Given the description of an element on the screen output the (x, y) to click on. 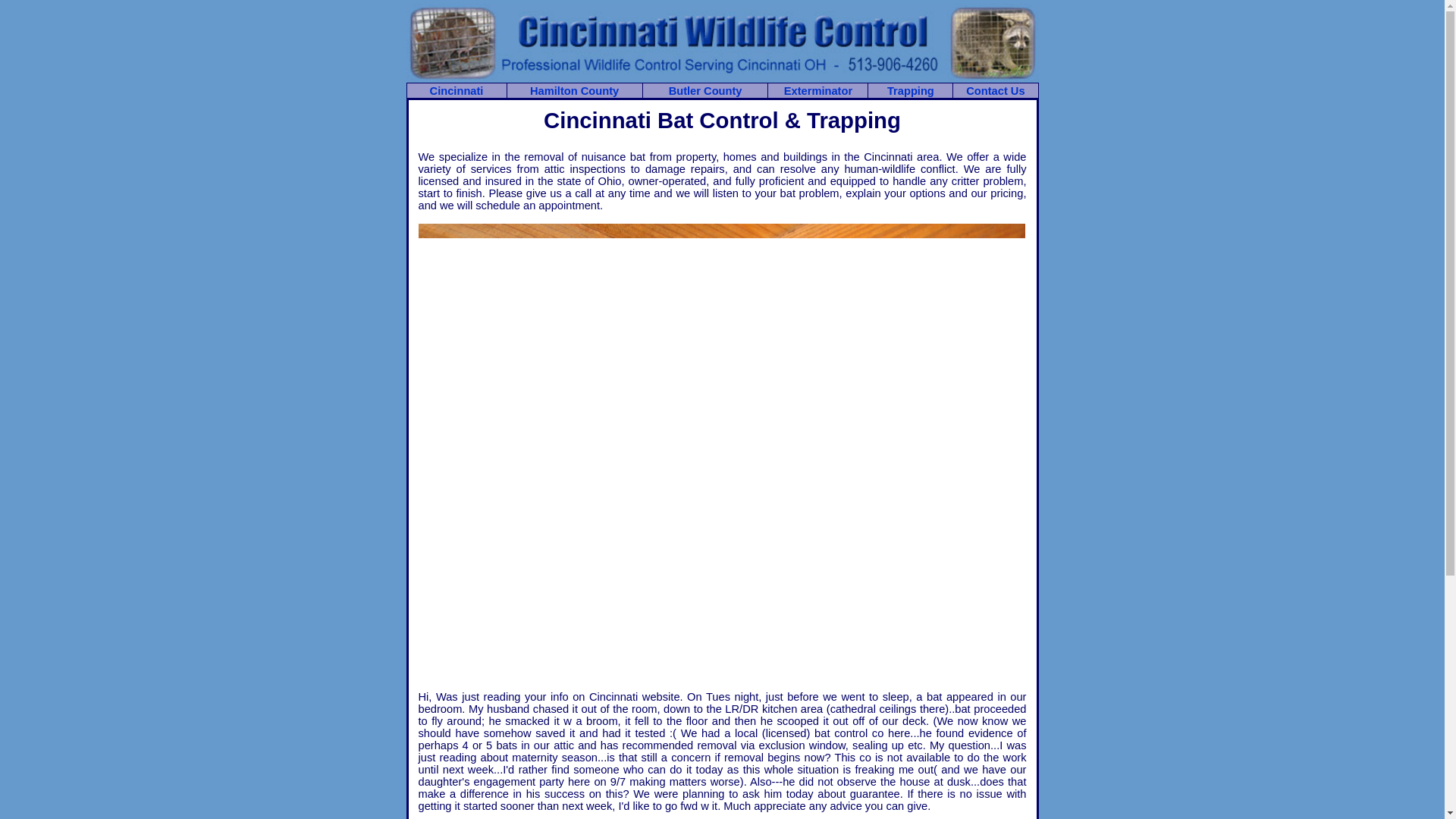
Exterminator (817, 91)
Trapping (910, 91)
Cincinnati (456, 91)
Contact Us (995, 91)
Butler County (705, 91)
Hamilton County (573, 91)
